Given the description of an element on the screen output the (x, y) to click on. 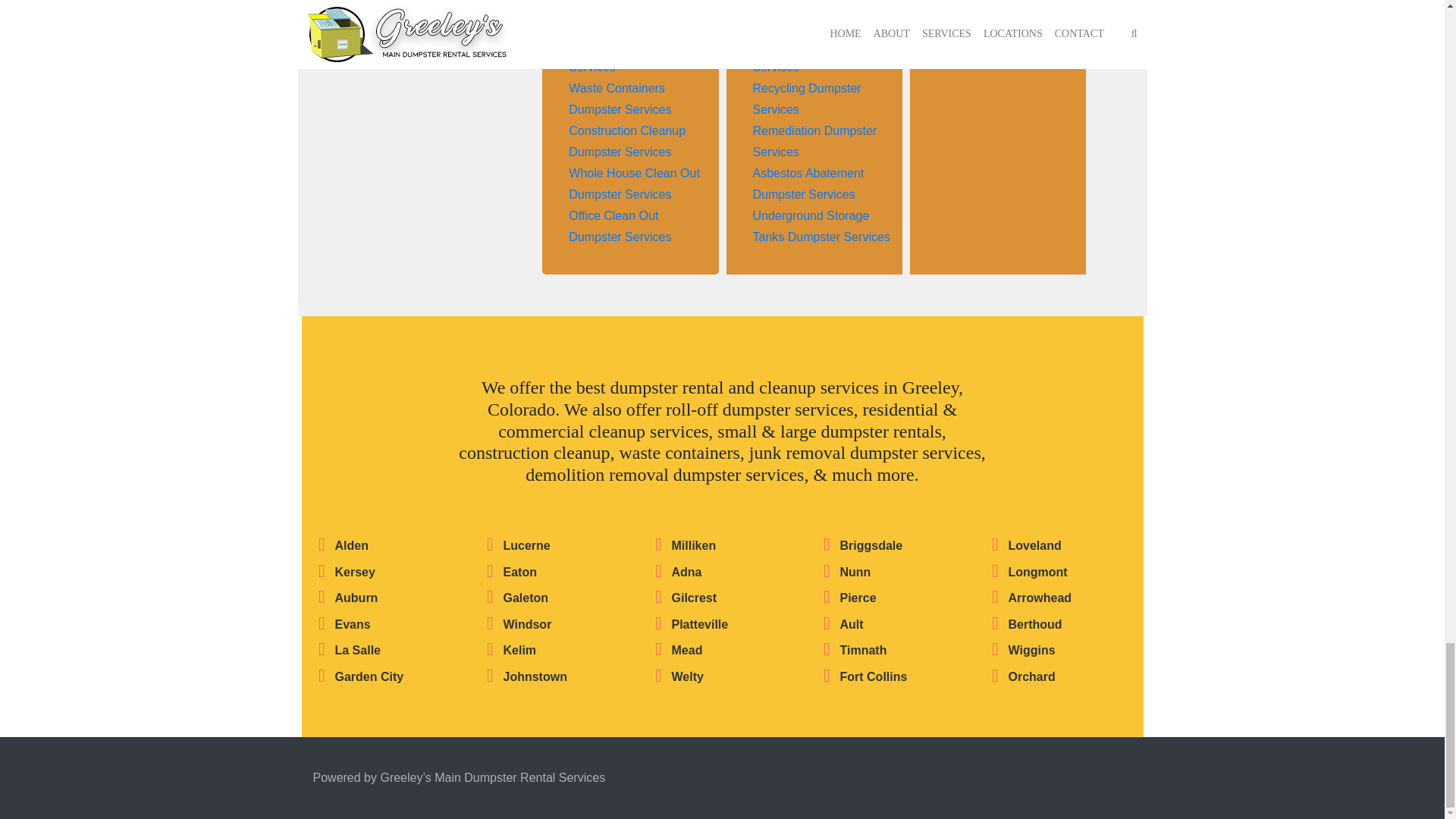
Construction Cleanup Dumpster Services (627, 141)
Whole House Clean Out Dumpster Services (634, 183)
Office Clean Out Dumpster Services (620, 226)
Waste Containers Dumpster Services (620, 98)
Large Residential Projects Dumpster Services (618, 4)
